Given the description of an element on the screen output the (x, y) to click on. 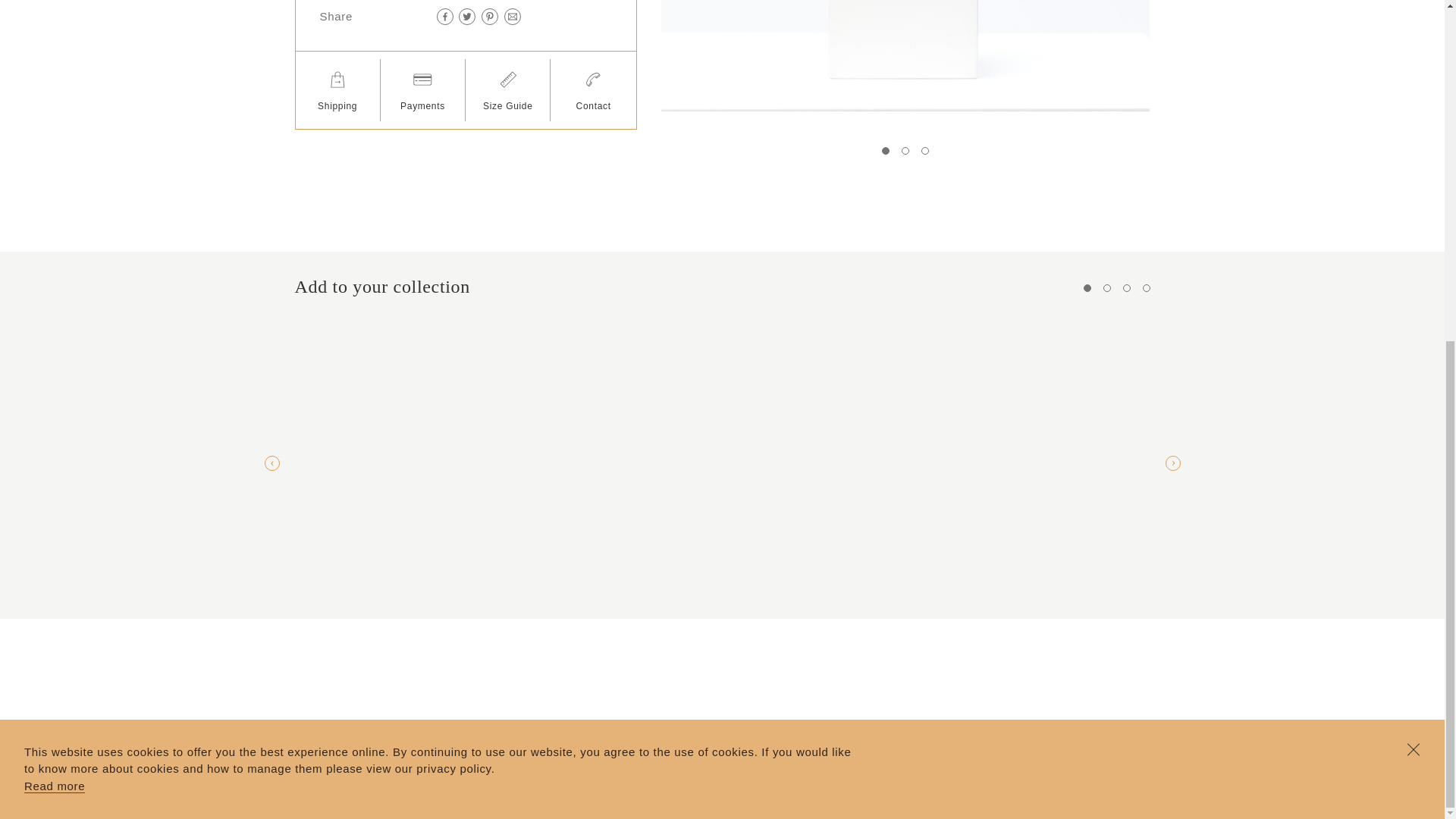
poppy tangerine mini pot (905, 56)
Envelope (512, 16)
Facebook Logo (445, 16)
Pinterest Logo (489, 16)
Twitter Logo (467, 16)
Read more (54, 205)
